Given the description of an element on the screen output the (x, y) to click on. 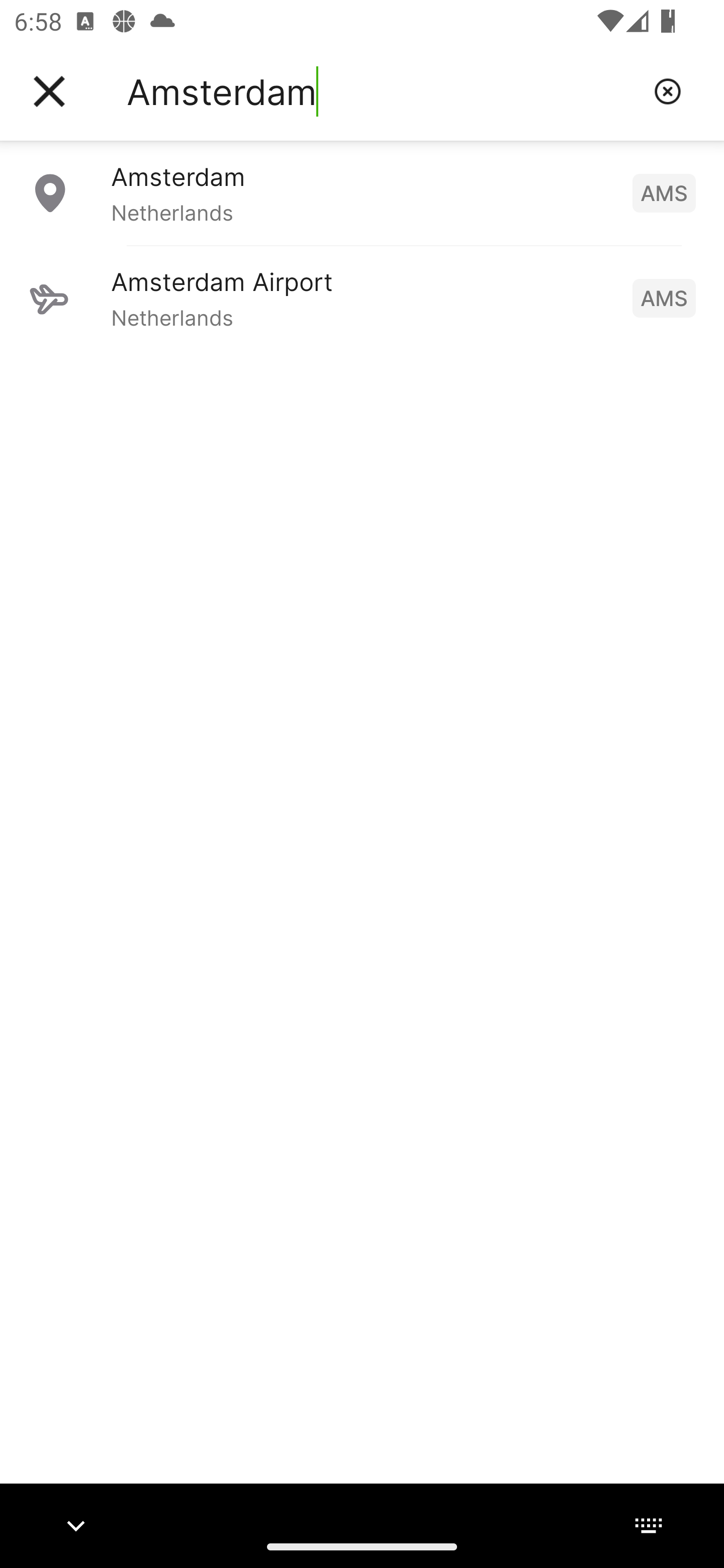
Amsterdam (382, 91)
Amsterdam Netherlands AMS (362, 192)
Amsterdam Airport Netherlands AMS (362, 297)
